Given the description of an element on the screen output the (x, y) to click on. 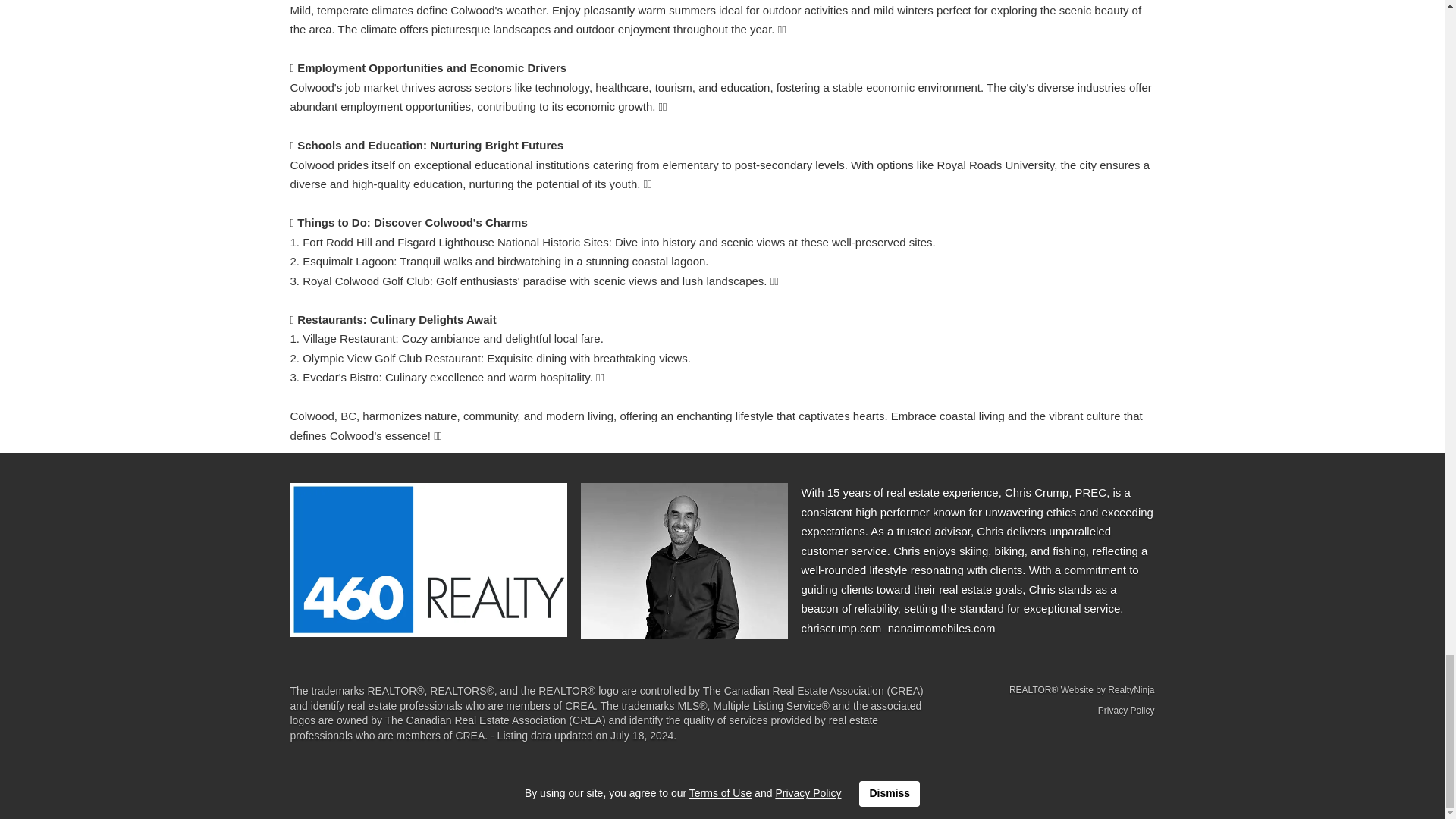
460 Realty (427, 560)
